Given the description of an element on the screen output the (x, y) to click on. 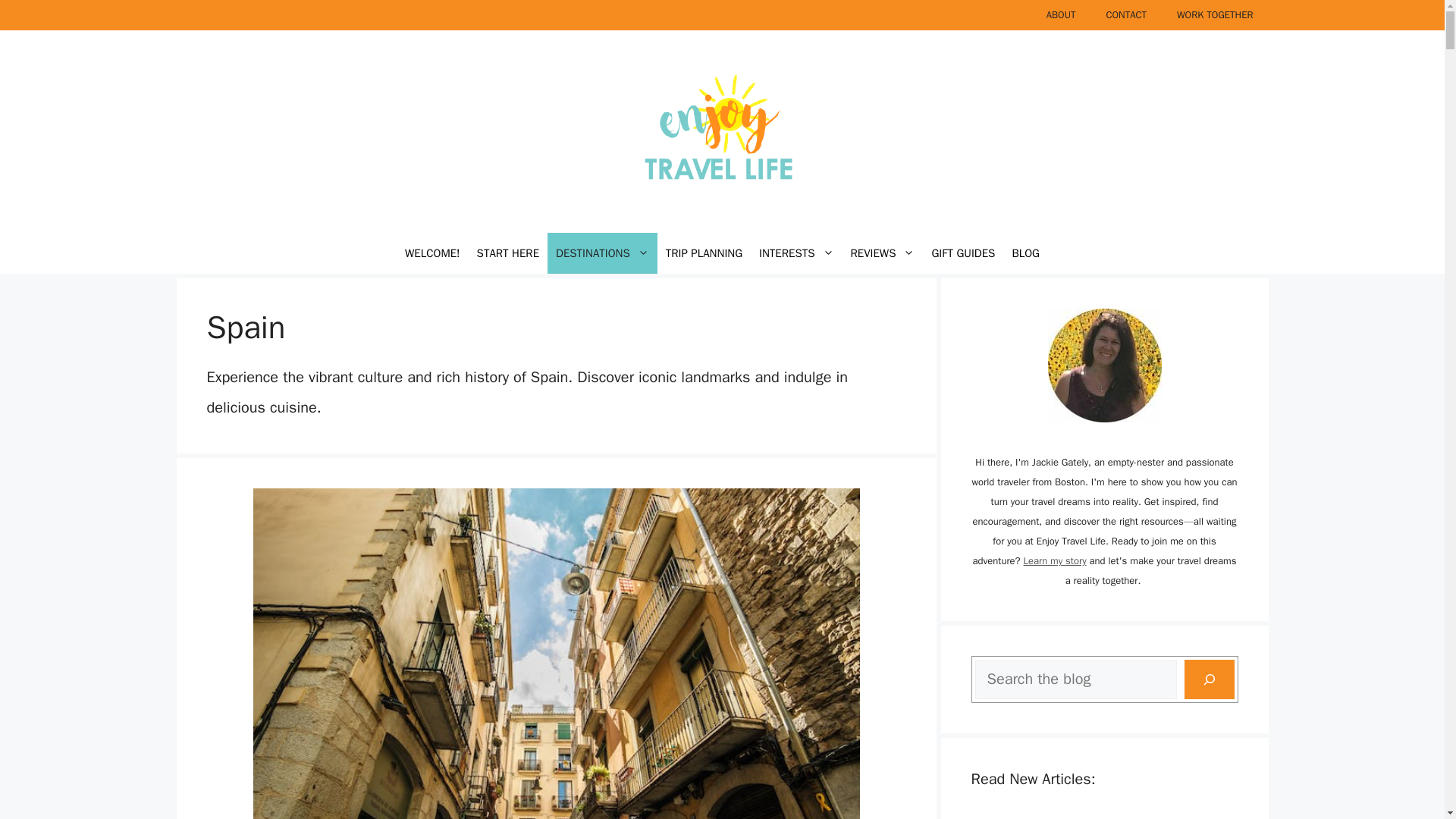
CONTACT (1125, 15)
ABOUT (1060, 15)
WORK TOGETHER (1214, 15)
